Given the description of an element on the screen output the (x, y) to click on. 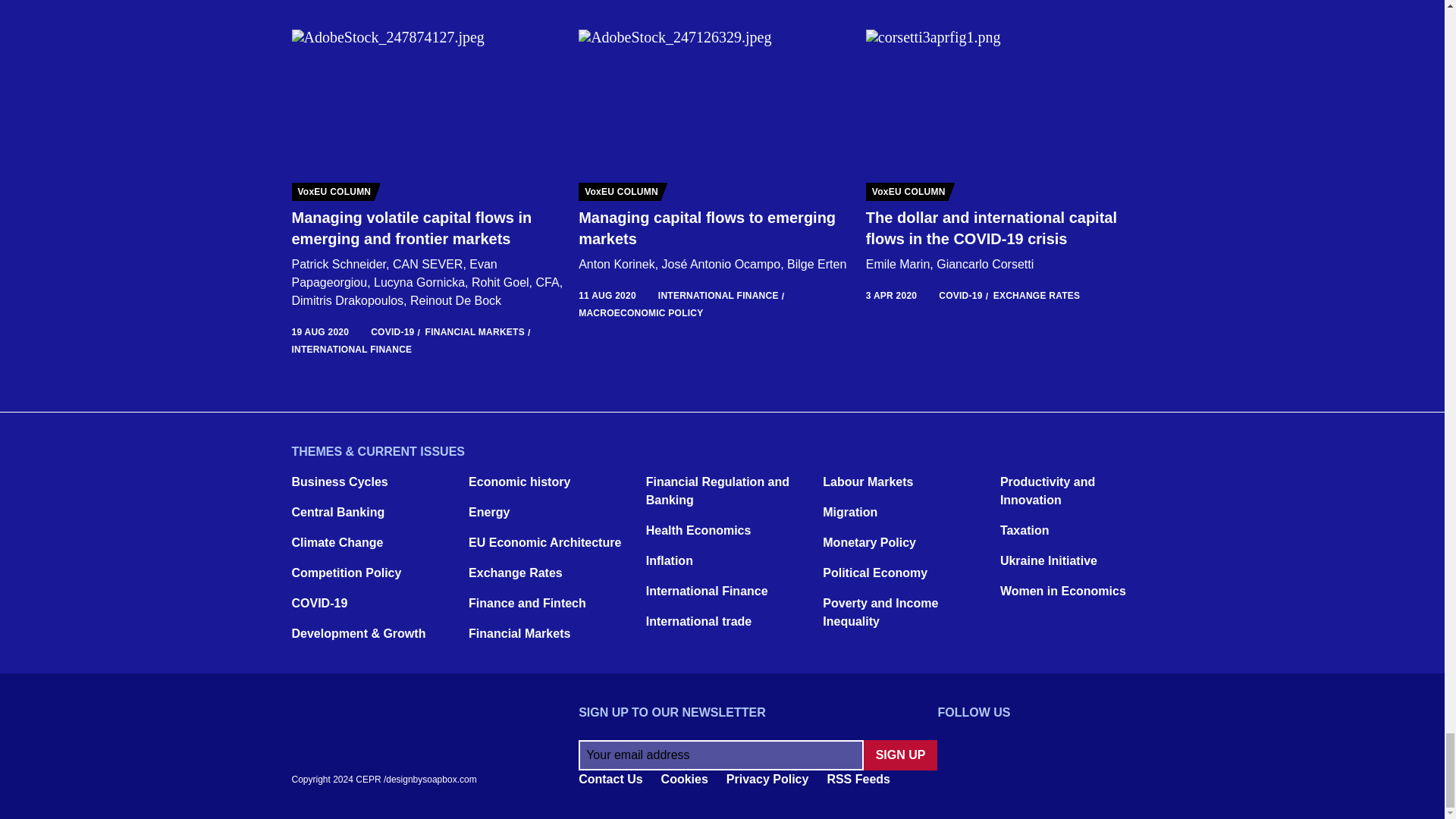
sign up (900, 755)
